Given the description of an element on the screen output the (x, y) to click on. 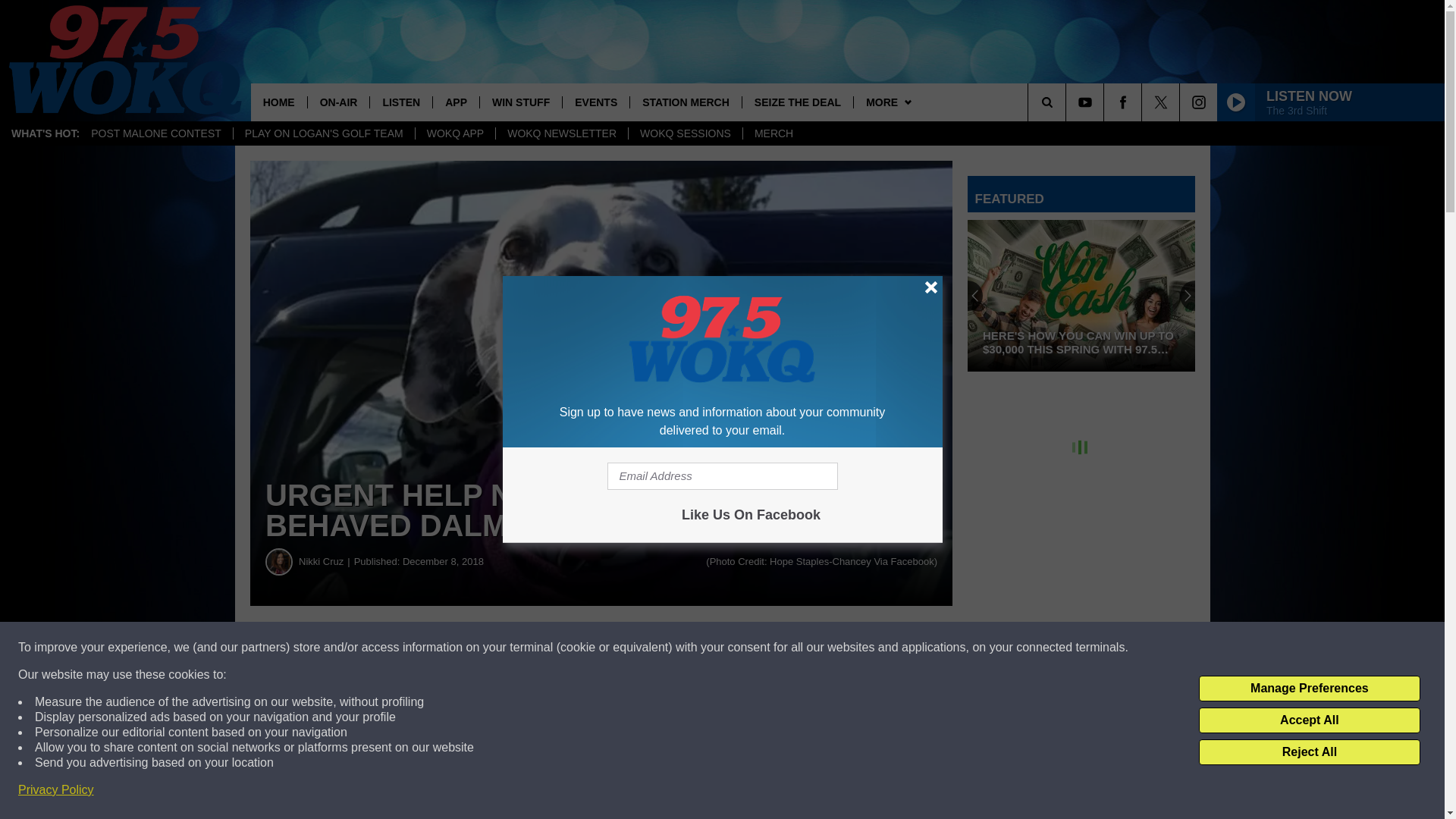
WIN STUFF (520, 102)
Share on Twitter (741, 647)
WOKQ SESSIONS (684, 133)
WOKQ APP (454, 133)
Accept All (1309, 720)
Email Address (722, 475)
APP (455, 102)
PLAY ON LOGAN'S GOLF TEAM (323, 133)
WOKQ NEWSLETTER (561, 133)
HOME (278, 102)
SEARCH (1068, 102)
EVENTS (595, 102)
Privacy Policy (55, 789)
POST MALONE CONTEST (156, 133)
Manage Preferences (1309, 688)
